Given the description of an element on the screen output the (x, y) to click on. 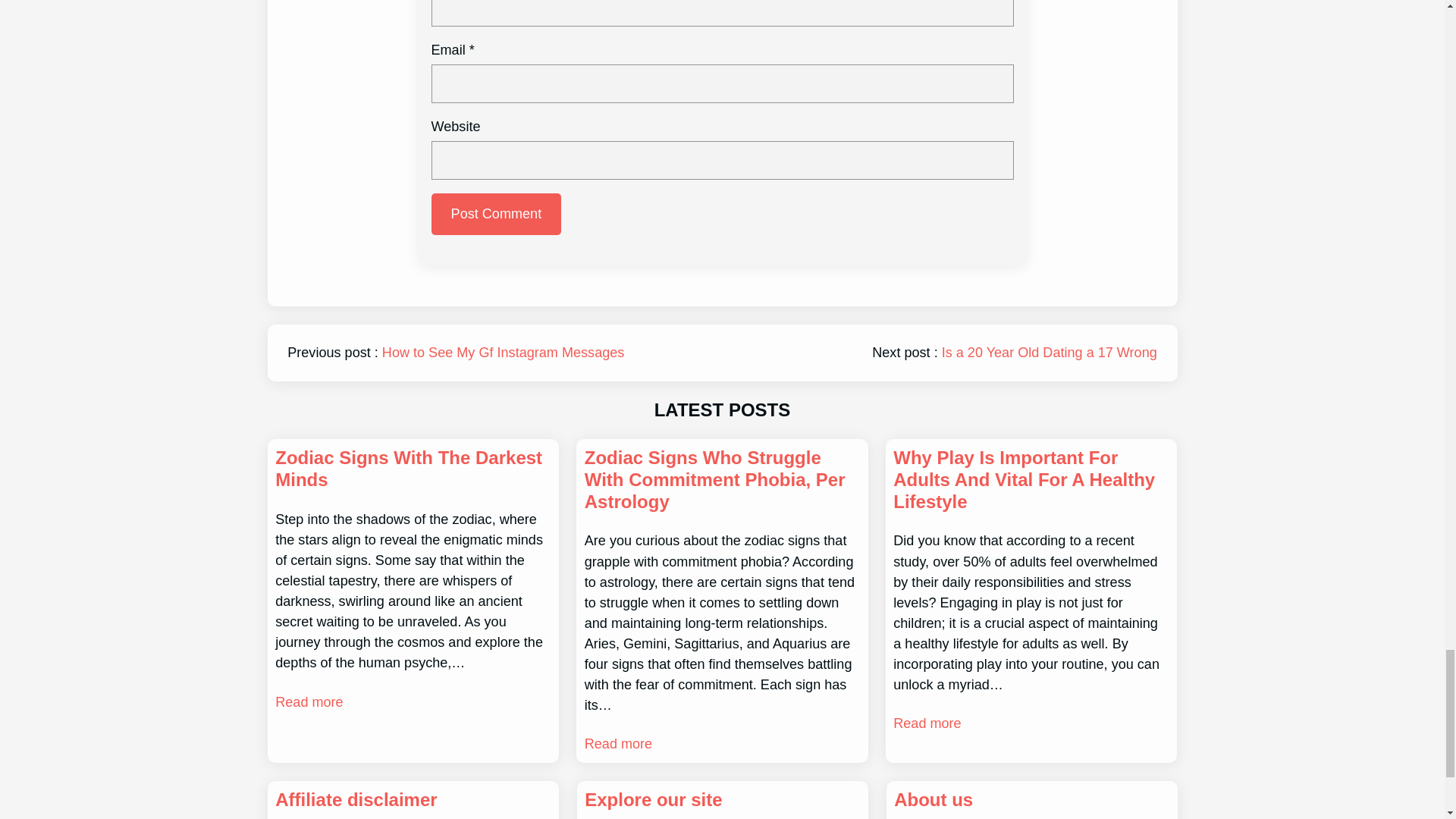
Read more (618, 743)
Post Comment (495, 214)
Read more (926, 723)
Zodiac Signs With The Darkest Minds (412, 469)
Read more (308, 702)
Is a 20 Year Old Dating a 17 Wrong (1049, 352)
Post Comment (495, 214)
How to See My Gf Instagram Messages (502, 352)
